Given the description of an element on the screen output the (x, y) to click on. 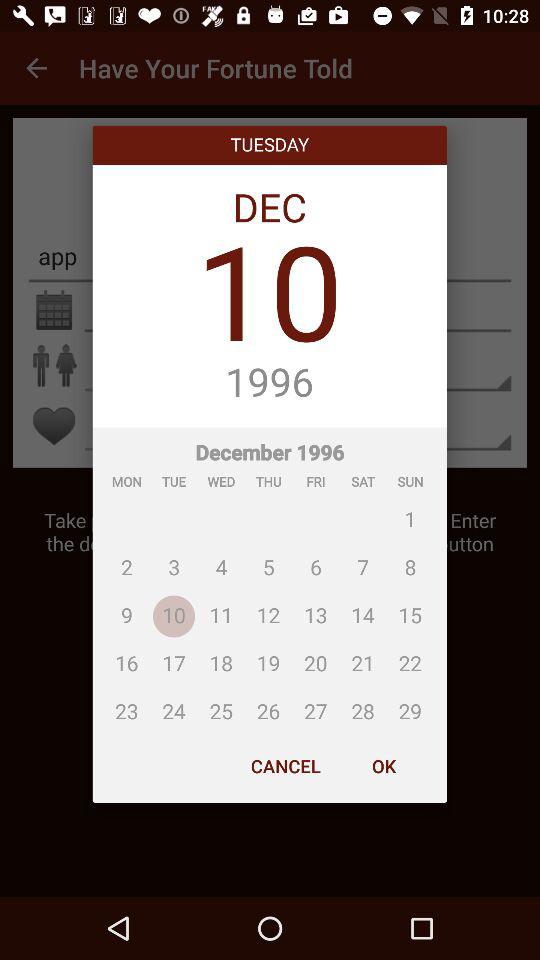
jump to ok item (383, 765)
